Given the description of an element on the screen output the (x, y) to click on. 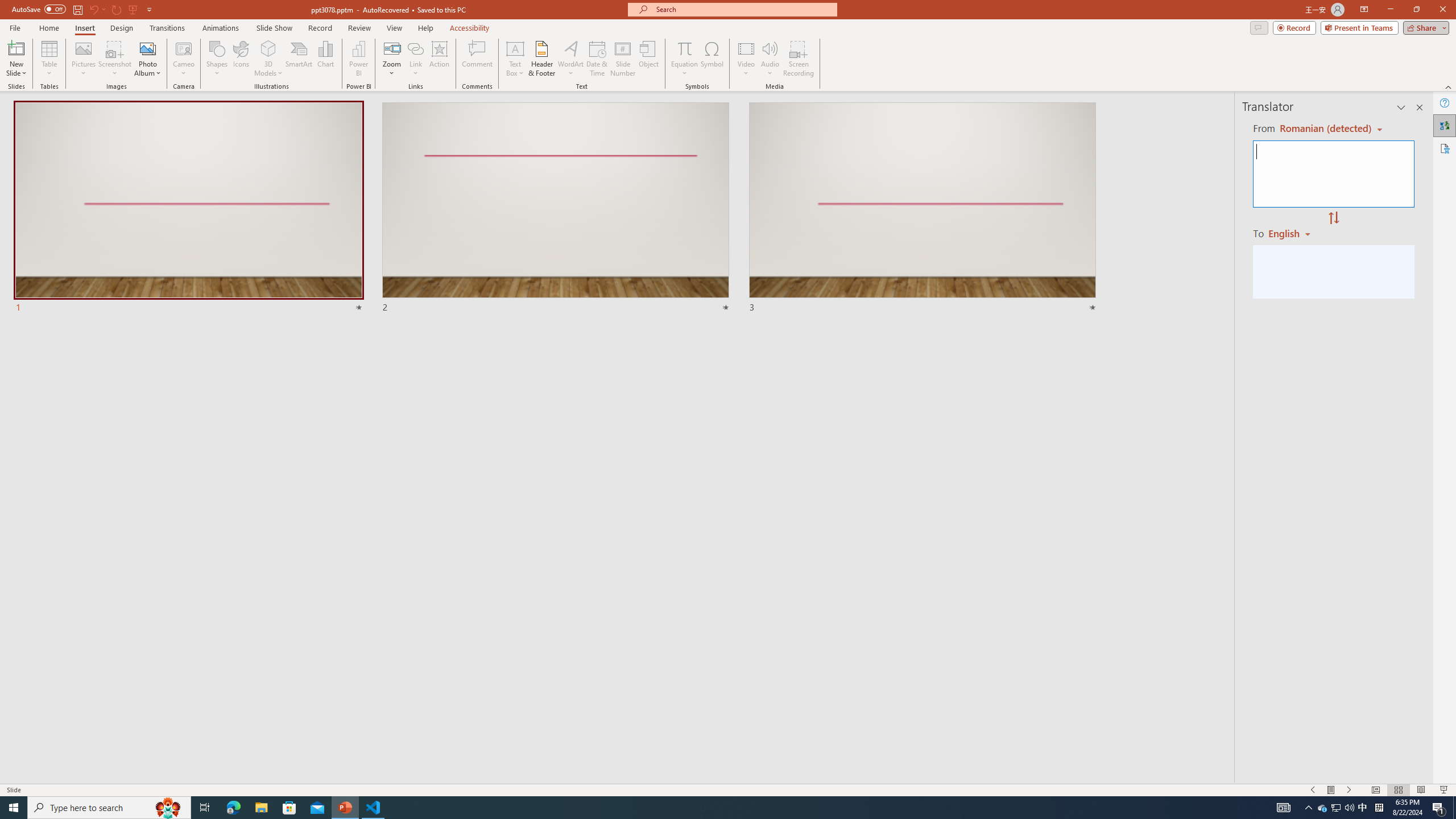
Screen Recording... (798, 58)
Equation (683, 58)
Table (49, 58)
3D Models (268, 48)
Symbol... (711, 58)
